Given the description of an element on the screen output the (x, y) to click on. 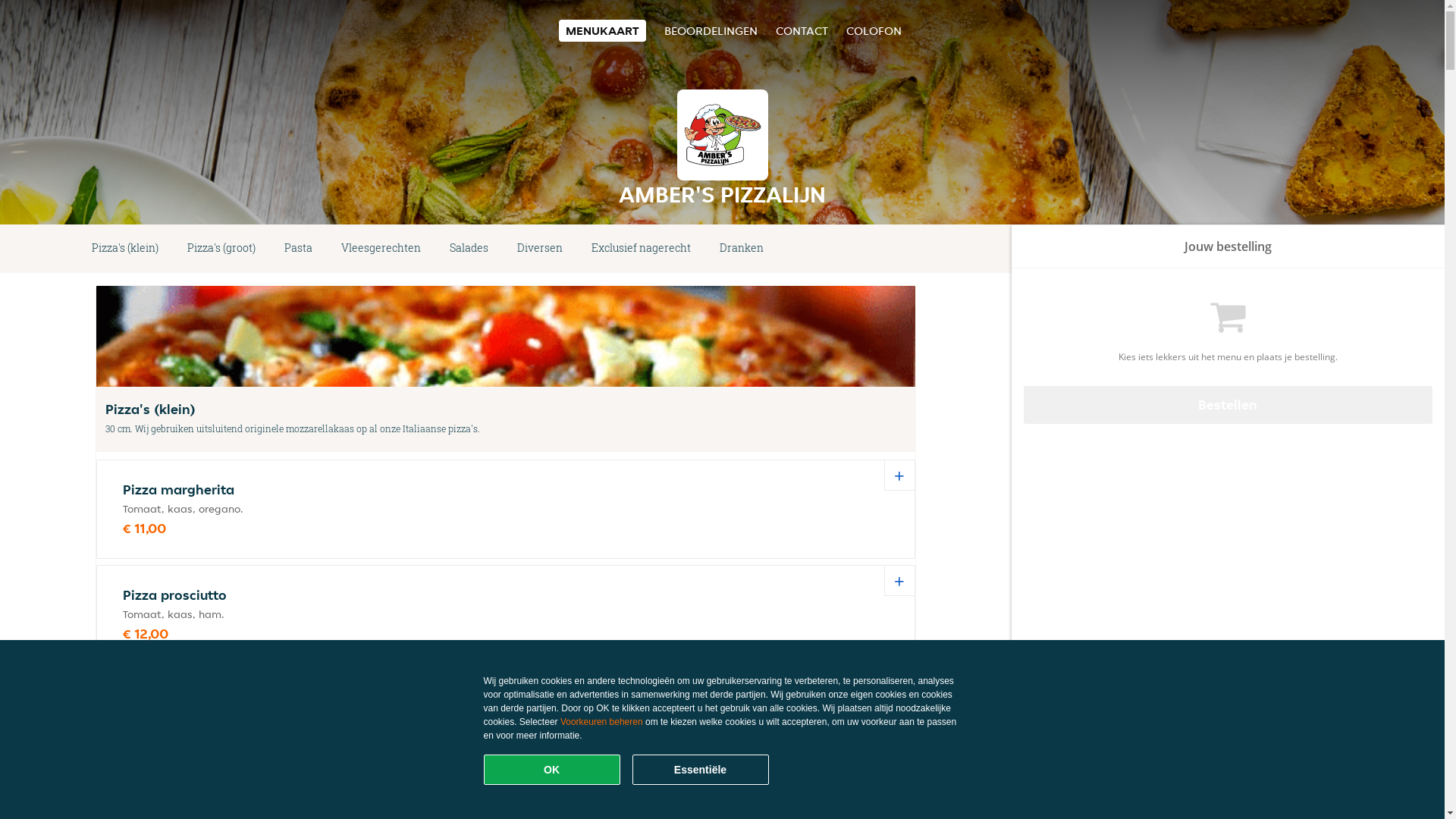
COLOFON Element type: text (873, 30)
Pizza's (groot) Element type: text (220, 248)
CONTACT Element type: text (801, 30)
Pizza's (klein) Element type: text (124, 248)
MENUKAART Element type: text (601, 30)
Diversen Element type: text (539, 248)
Salades Element type: text (468, 248)
Dranken Element type: text (741, 248)
OK Element type: text (551, 769)
Exclusief nagerecht Element type: text (641, 248)
Pasta Element type: text (297, 248)
BEOORDELINGEN Element type: text (710, 30)
Bestellen Element type: text (1228, 404)
Vleesgerechten Element type: text (380, 248)
Voorkeuren beheren Element type: text (601, 721)
